Given the description of an element on the screen output the (x, y) to click on. 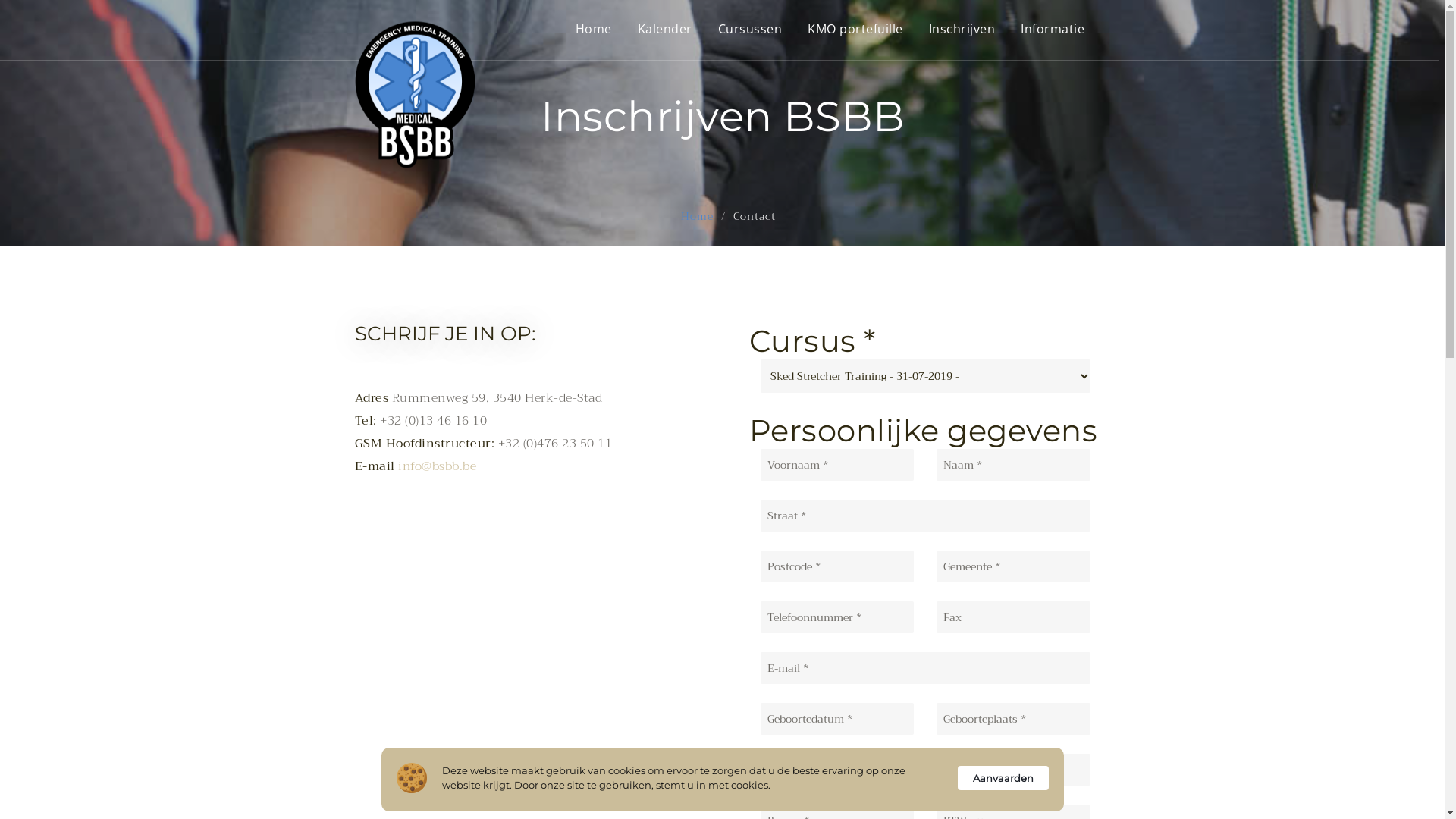
Cursussen Element type: text (373, 633)
Home Element type: text (592, 28)
Home Element type: text (696, 216)
Kalender Element type: text (664, 28)
Algemene Voorwaarden Element type: text (528, 614)
Kalender Element type: text (369, 614)
Cursussen Element type: text (749, 28)
KMO portefuille Element type: text (855, 28)
Rummenweg 59
3540 Herk-de-Stad Element type: text (638, 683)
Home Element type: text (363, 596)
Instructeurs Element type: text (500, 633)
Basisklimset Element type: text (500, 687)
Informatie Element type: text (1052, 28)
info@bsbb.be Element type: text (649, 648)
Contact Element type: text (489, 596)
Klimset huren Element type: text (505, 705)
Inschrijven Element type: text (961, 28)
info@bsbb.be Element type: text (437, 465)
Prijzen en KMO portefeuille Element type: text (509, 660)
ok Element type: text (1053, 616)
Inschrijven Element type: text (376, 651)
